Given the description of an element on the screen output the (x, y) to click on. 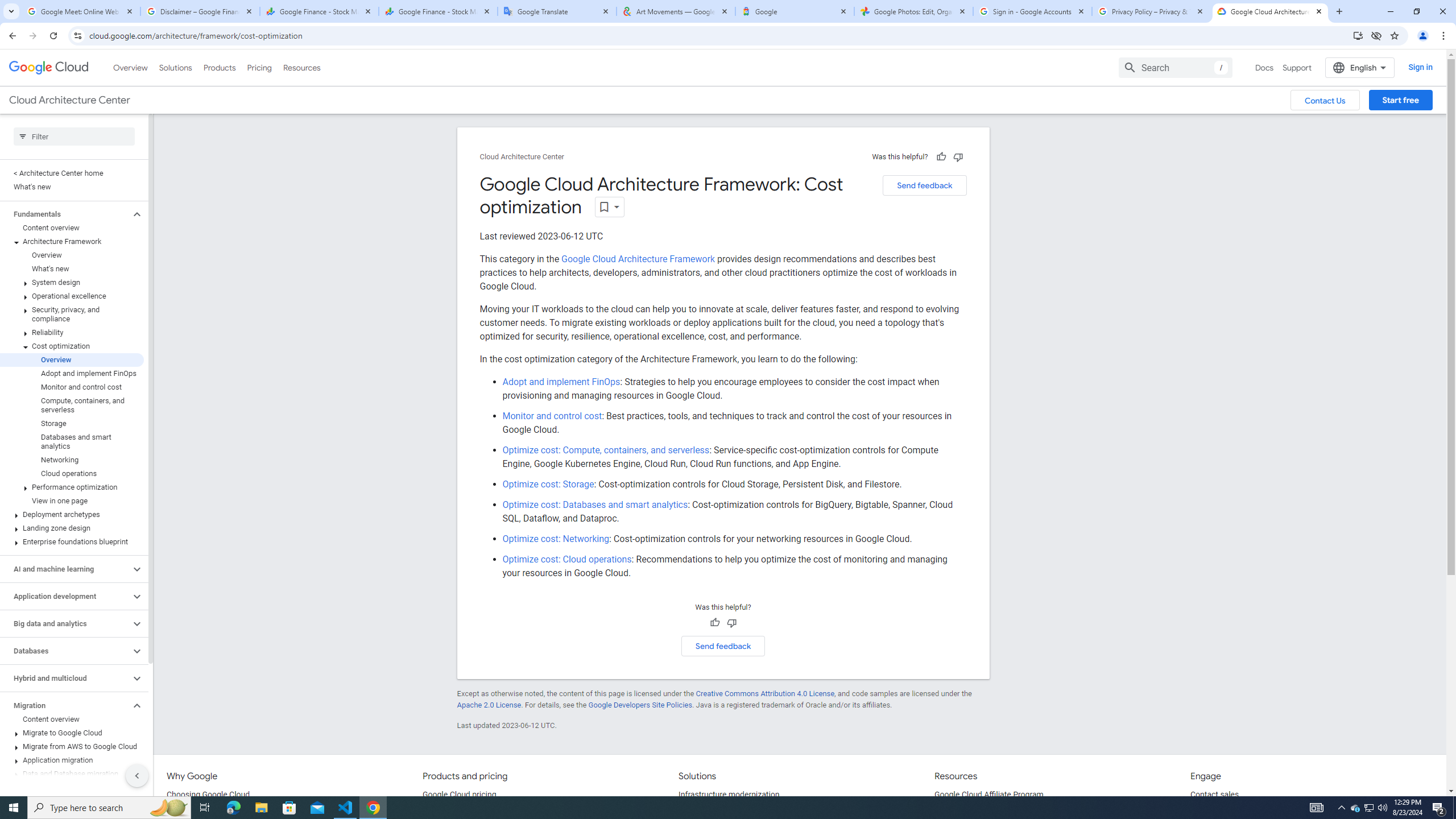
Contact sales (1215, 795)
Cloud operations (72, 473)
Adopt and implement FinOps (561, 381)
Migrate from AWS to Google Cloud (72, 746)
Products (218, 67)
Migrate to Google Cloud (72, 732)
Choosing Google Cloud (207, 795)
Architecture Framework (72, 241)
Optimize cost: Cloud operations (566, 559)
Contact Us (1324, 100)
